Given the description of an element on the screen output the (x, y) to click on. 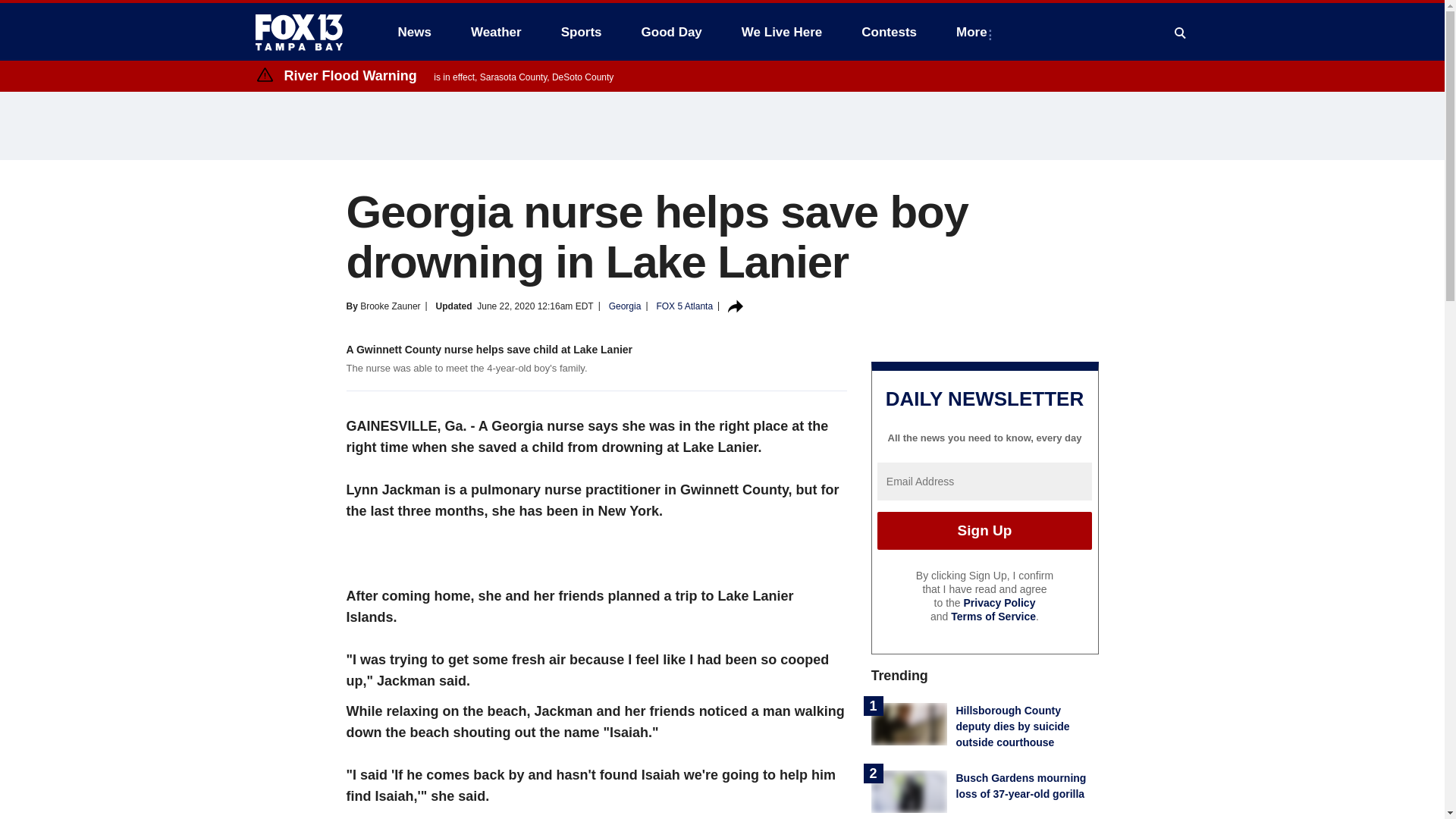
Sports (581, 32)
Sign Up (984, 530)
News (413, 32)
Good Day (671, 32)
We Live Here (781, 32)
Contests (888, 32)
More (974, 32)
Weather (496, 32)
